Given the description of an element on the screen output the (x, y) to click on. 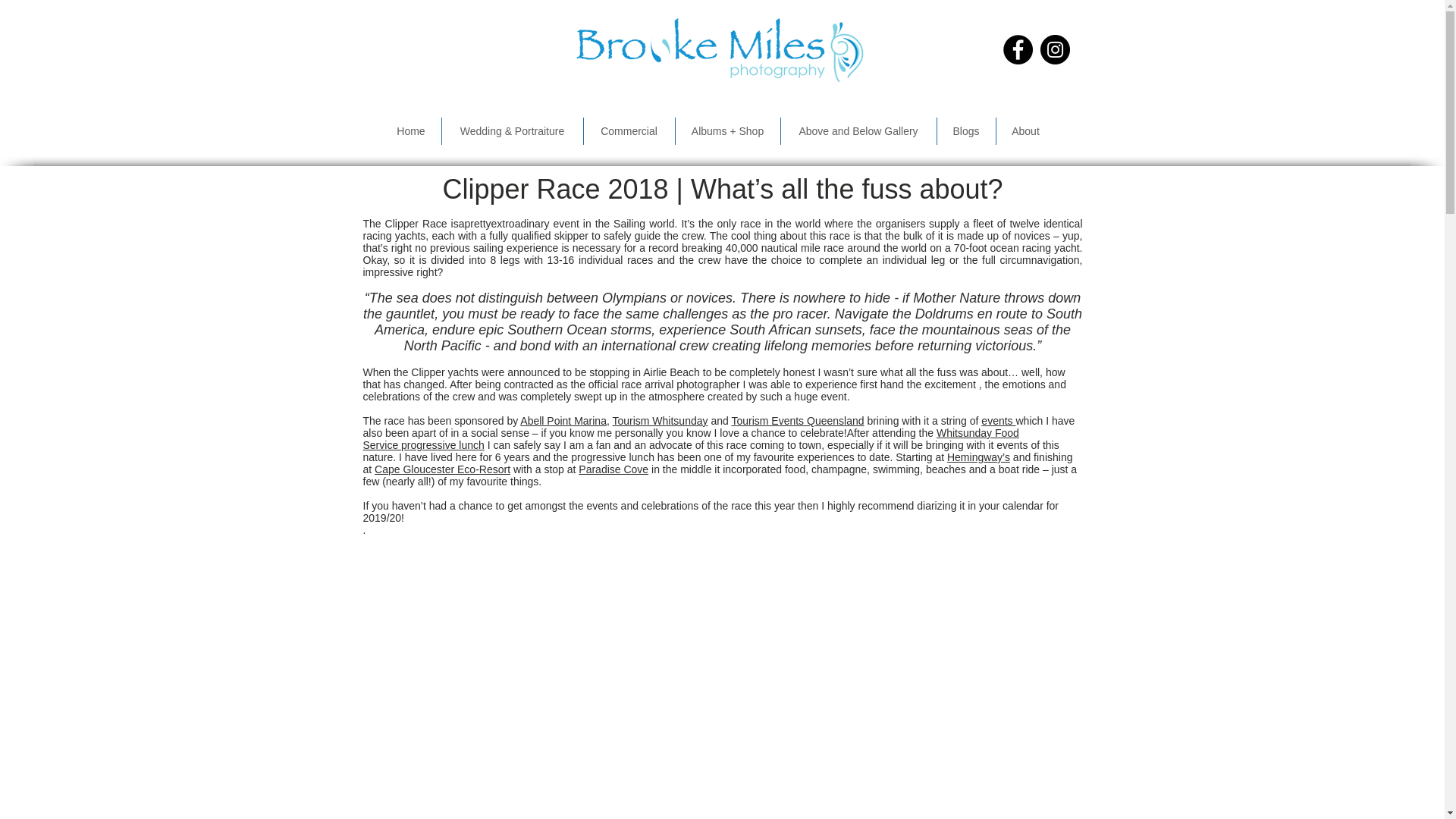
Brooke Miles Photography-01.png (717, 48)
Abell Point Marina (563, 420)
Above and Below Gallery (858, 130)
Home (410, 130)
Tourism Whitsunday (659, 420)
